Given the description of an element on the screen output the (x, y) to click on. 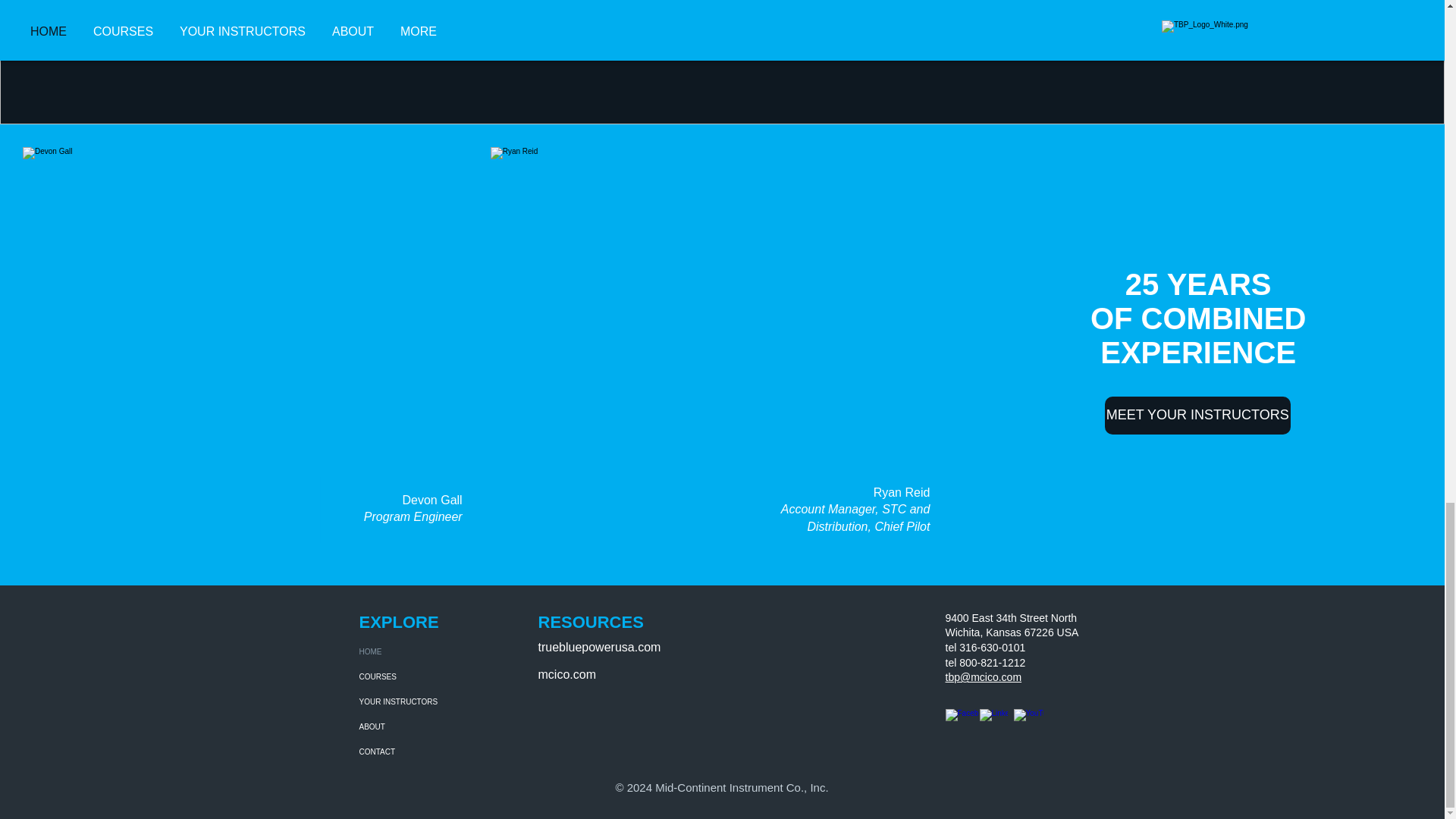
HOME (426, 651)
truebluepowerusa.com (599, 646)
YOUR INSTRUCTORS (426, 701)
mcico.com (566, 674)
CONTACT (426, 751)
MEET YOUR INSTRUCTORS (1197, 415)
ABOUT (426, 726)
COURSES (426, 676)
